Given the description of an element on the screen output the (x, y) to click on. 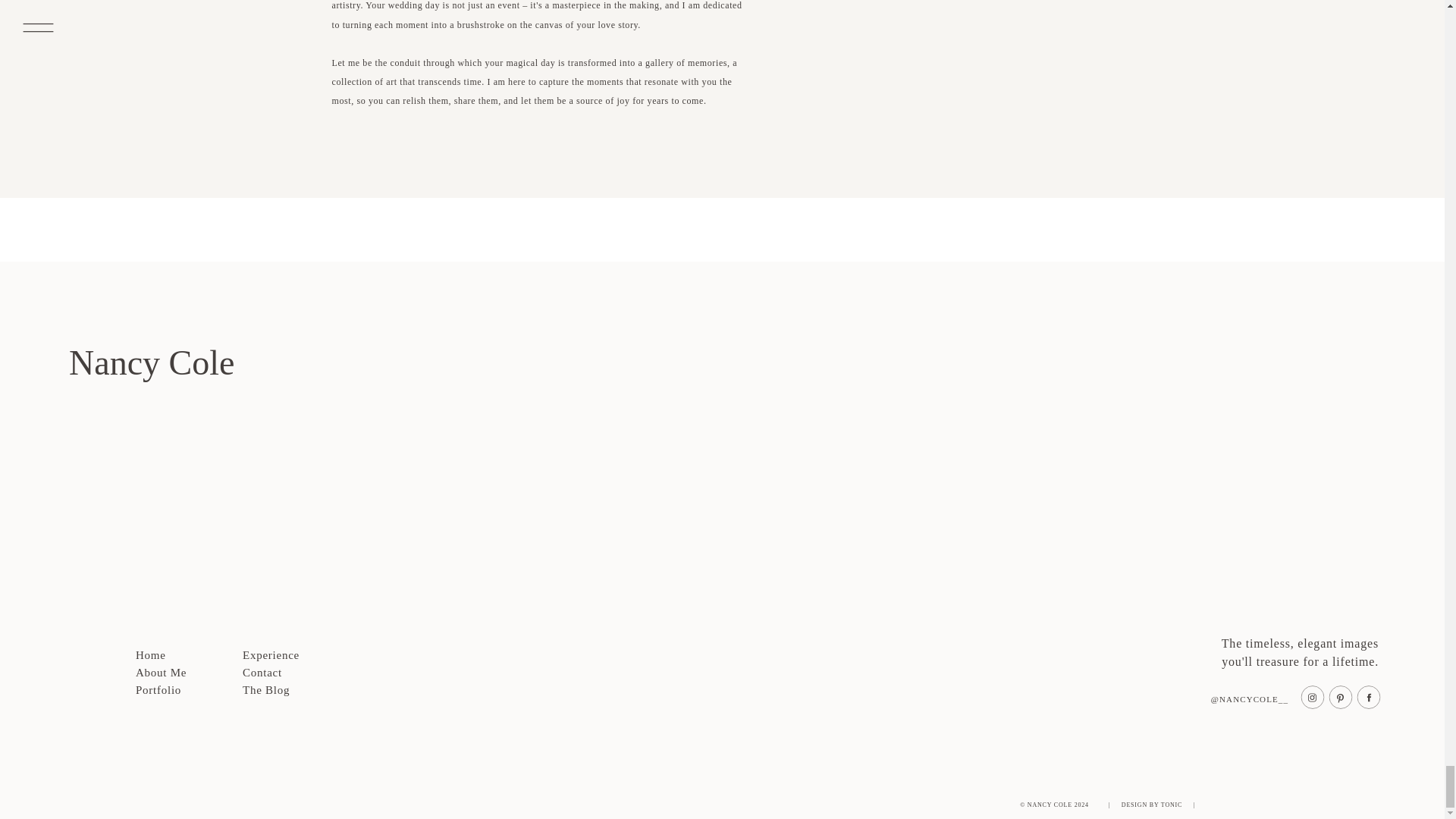
Sunday mood. (108, 497)
Dance like no one is watching. (1163, 497)
